Given the description of an element on the screen output the (x, y) to click on. 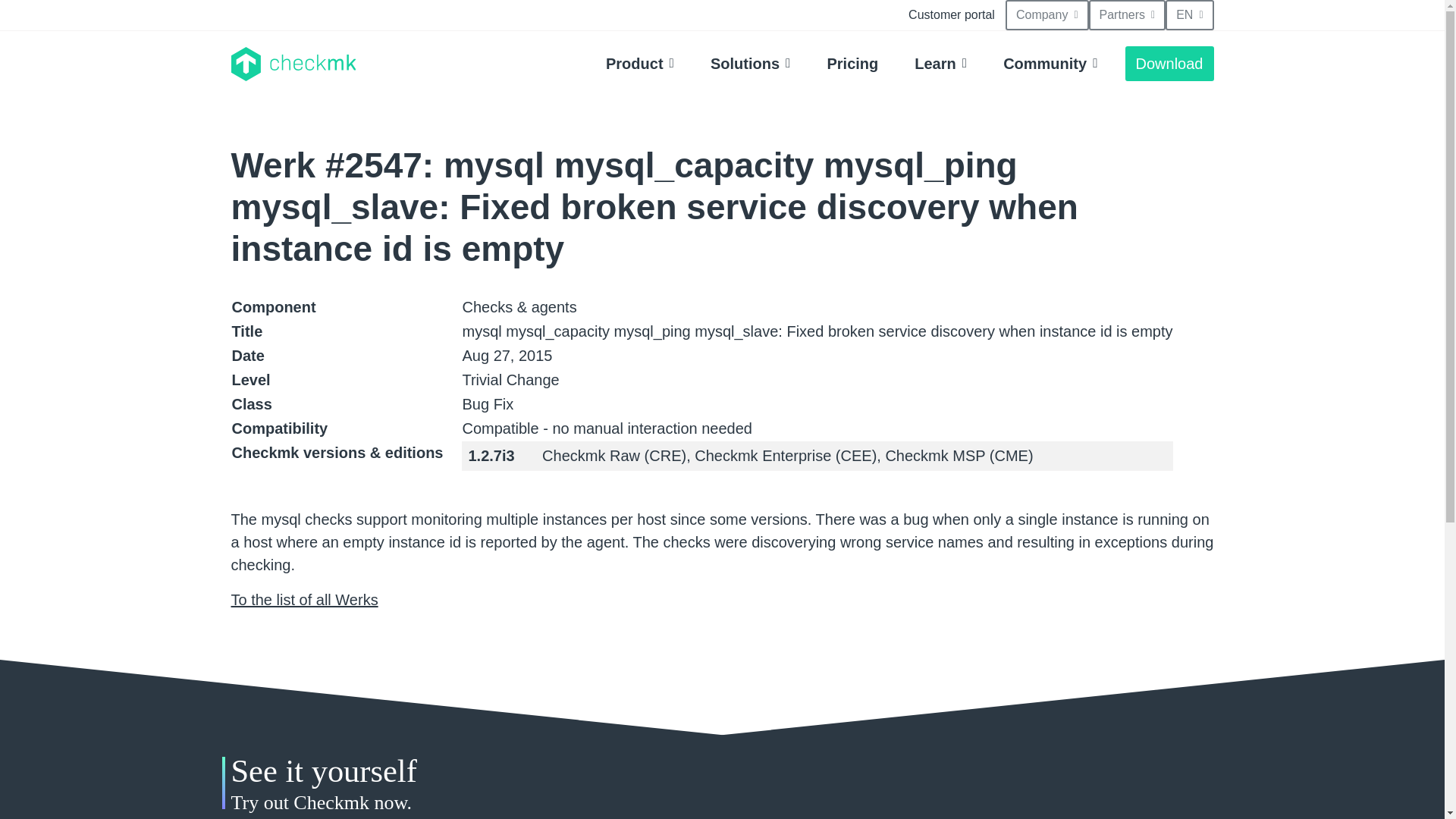
Product (639, 63)
Customer portal (952, 15)
Solutions (750, 63)
Partners (1127, 15)
Company (1047, 15)
EN (1189, 15)
Checkmk (292, 63)
